Given the description of an element on the screen output the (x, y) to click on. 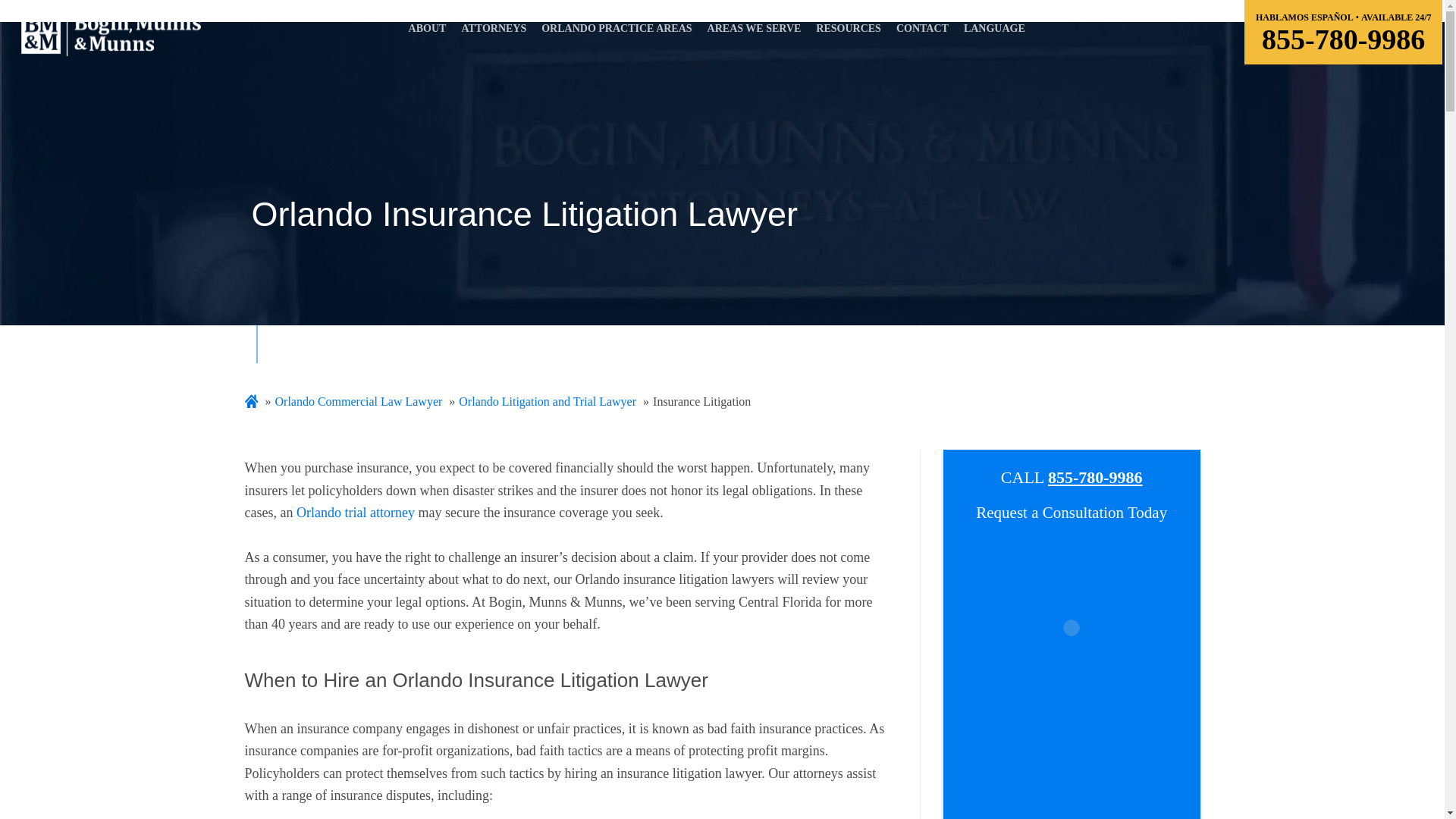
RESOURCES (848, 32)
ORLANDO PRACTICE AREAS (616, 32)
ATTORNEYS (493, 32)
AREAS WE SERVE (754, 32)
